Given the description of an element on the screen output the (x, y) to click on. 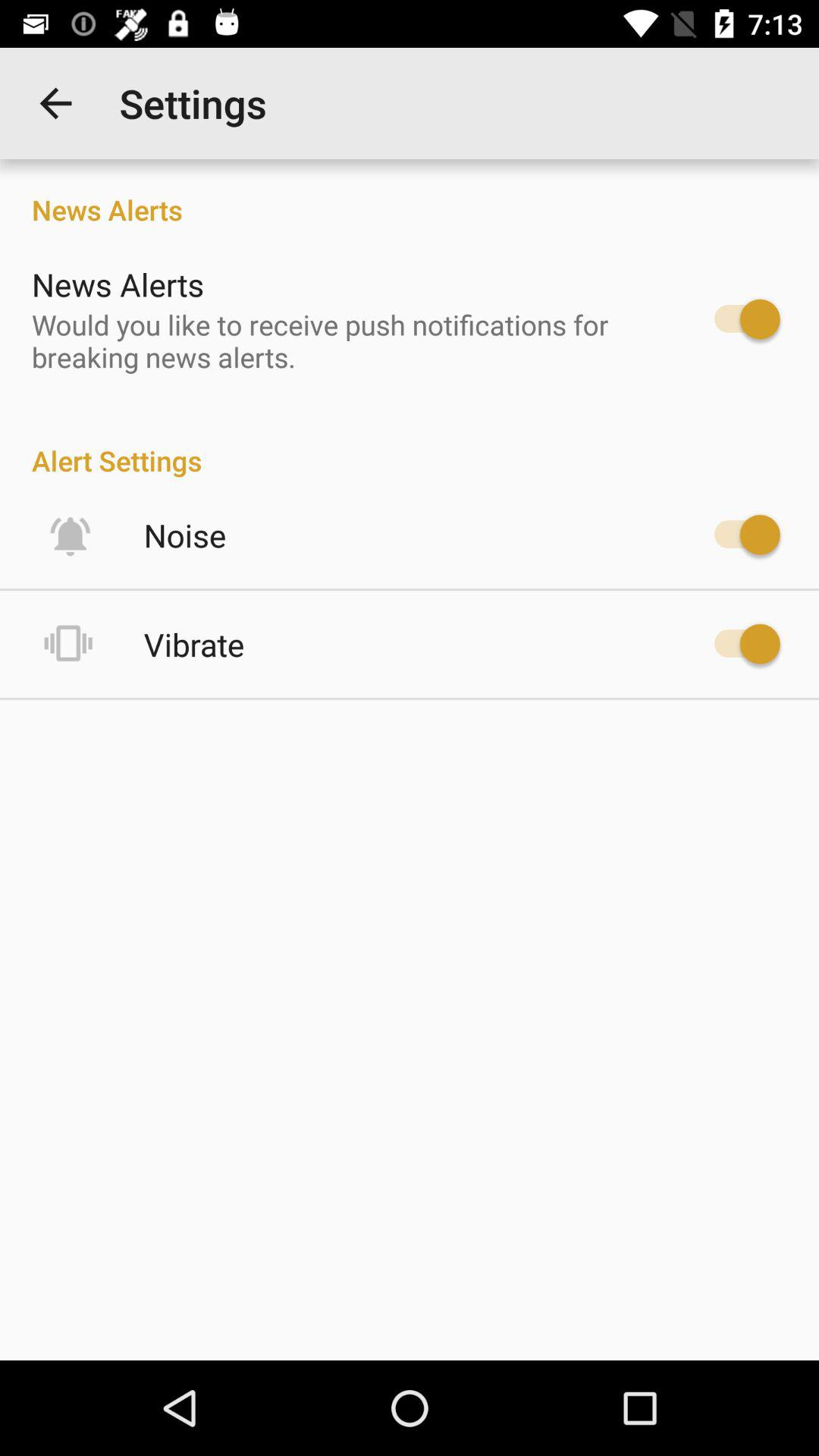
select the item next to the settings  item (55, 103)
